Given the description of an element on the screen output the (x, y) to click on. 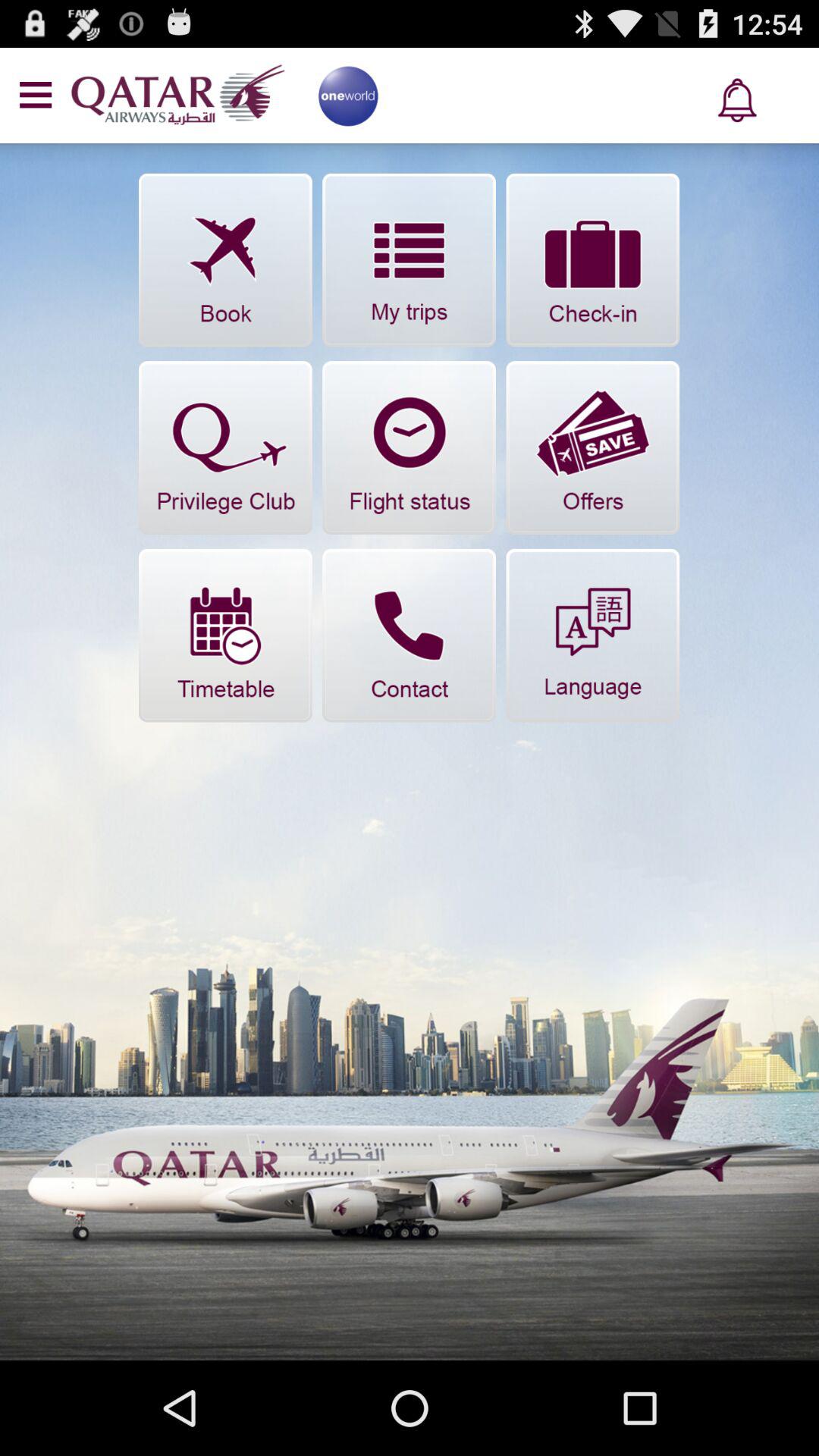
privilege club (225, 447)
